Given the description of an element on the screen output the (x, y) to click on. 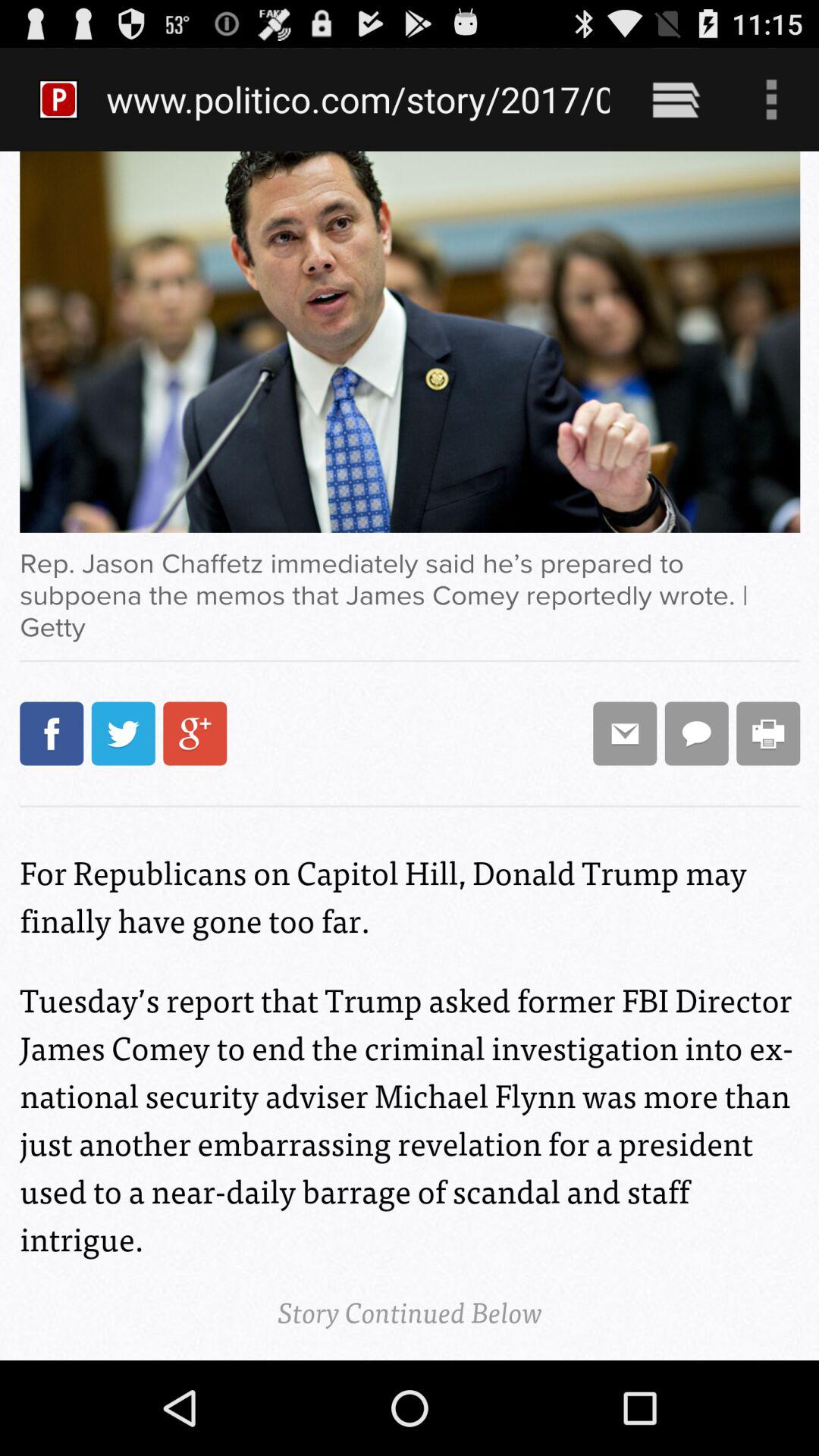
turn on item next to the www politico com item (675, 99)
